Given the description of an element on the screen output the (x, y) to click on. 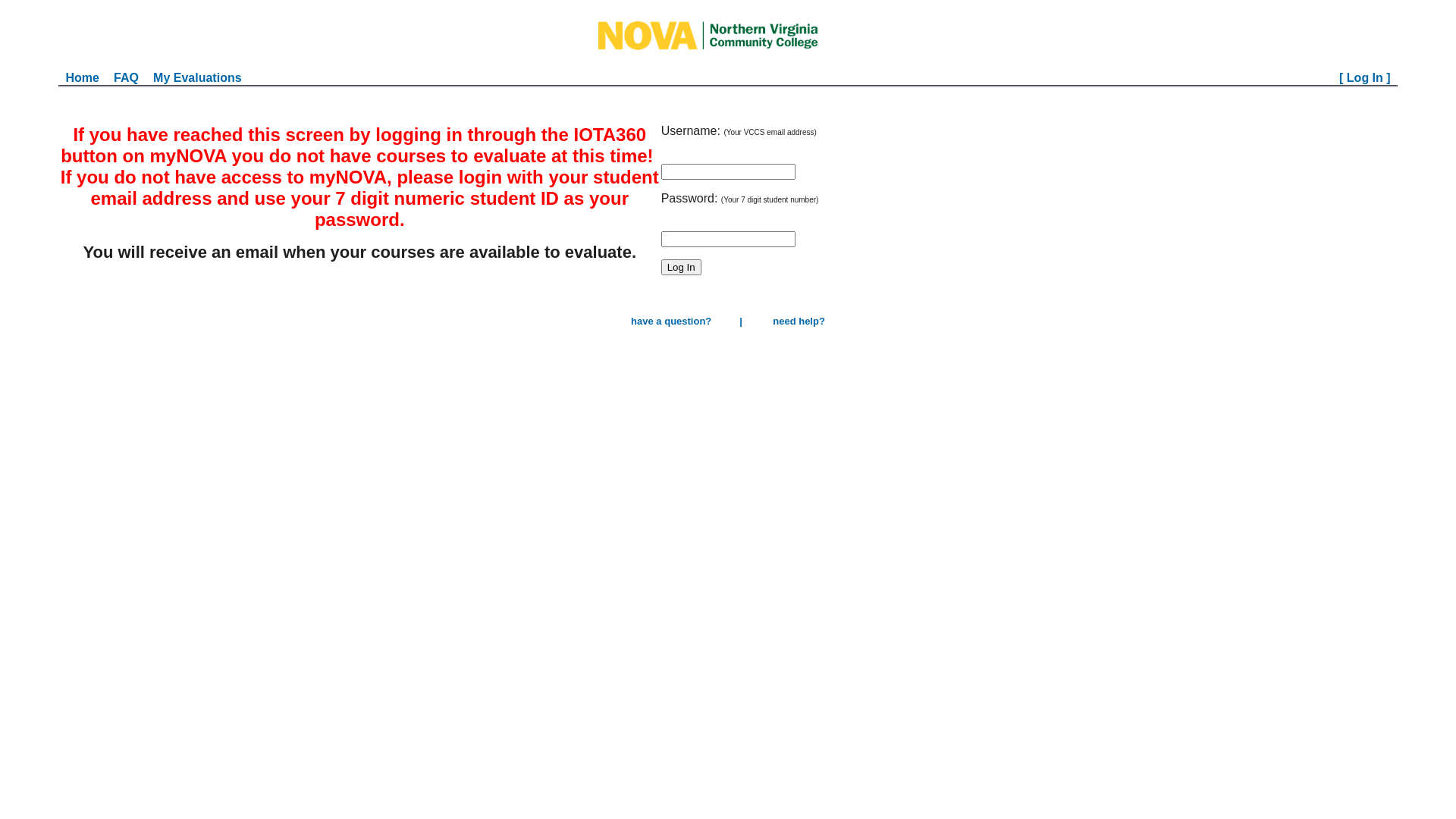
need help? Element type: text (798, 320)
Home Element type: text (81, 77)
FAQ Element type: text (125, 77)
Log In Element type: text (681, 267)
[ Log In ] Element type: text (1364, 77)
My Evaluations Element type: text (197, 77)
have a question? Element type: text (671, 320)
